Given the description of an element on the screen output the (x, y) to click on. 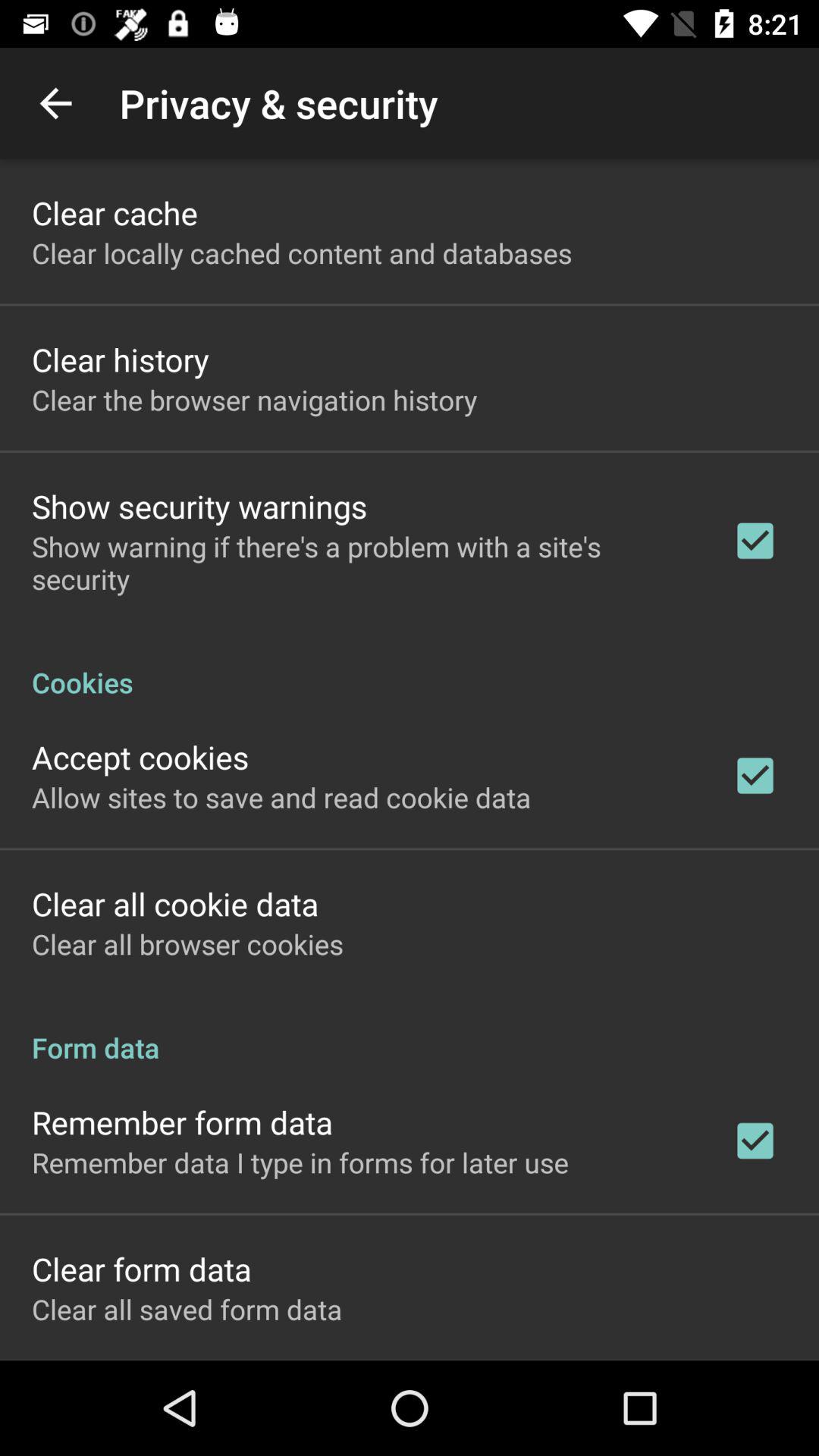
choose the item below accept cookies item (281, 797)
